Given the description of an element on the screen output the (x, y) to click on. 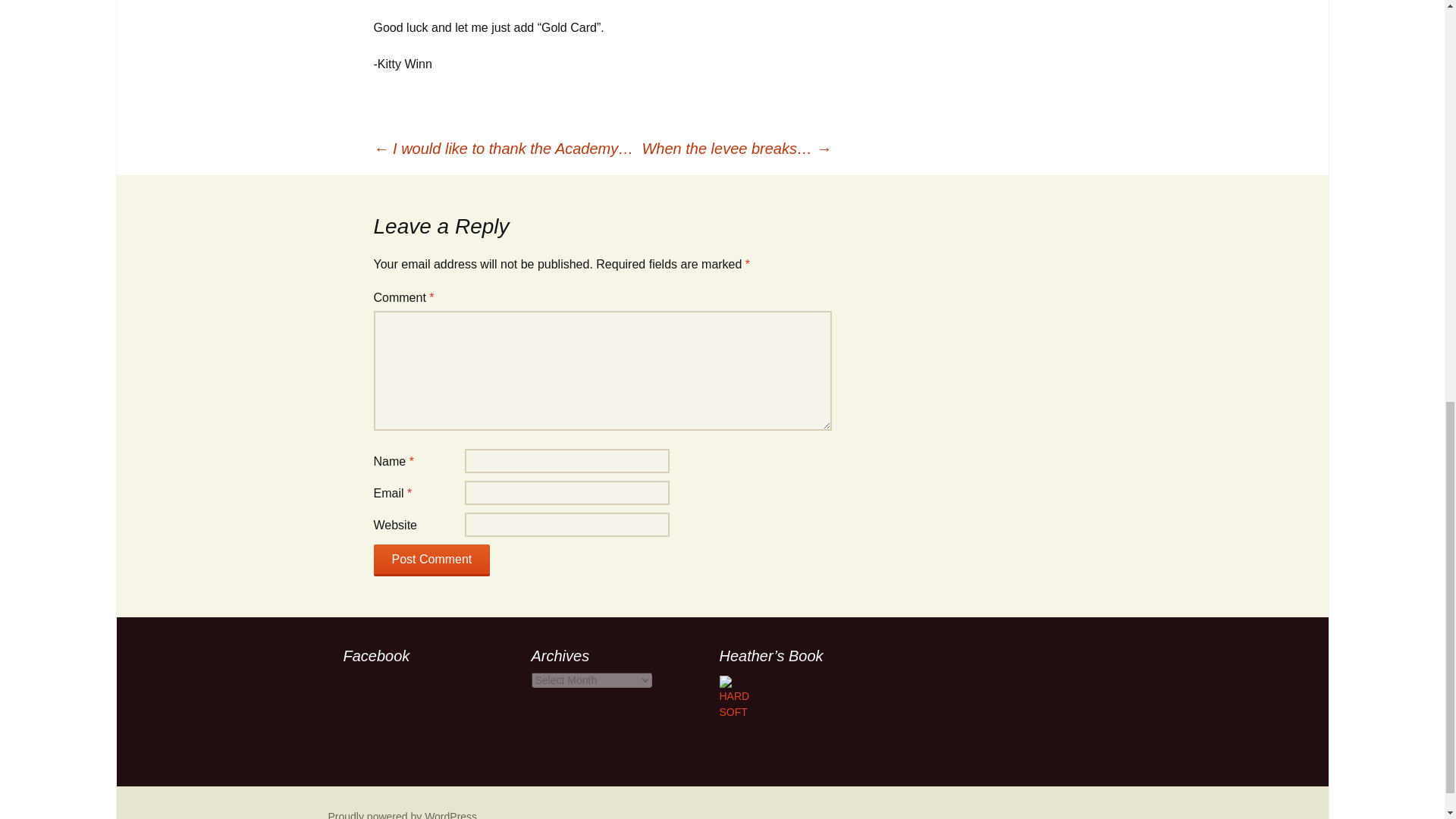
Post Comment (430, 560)
Post Comment (430, 560)
Semantic Personal Publishing Platform (402, 814)
